Given the description of an element on the screen output the (x, y) to click on. 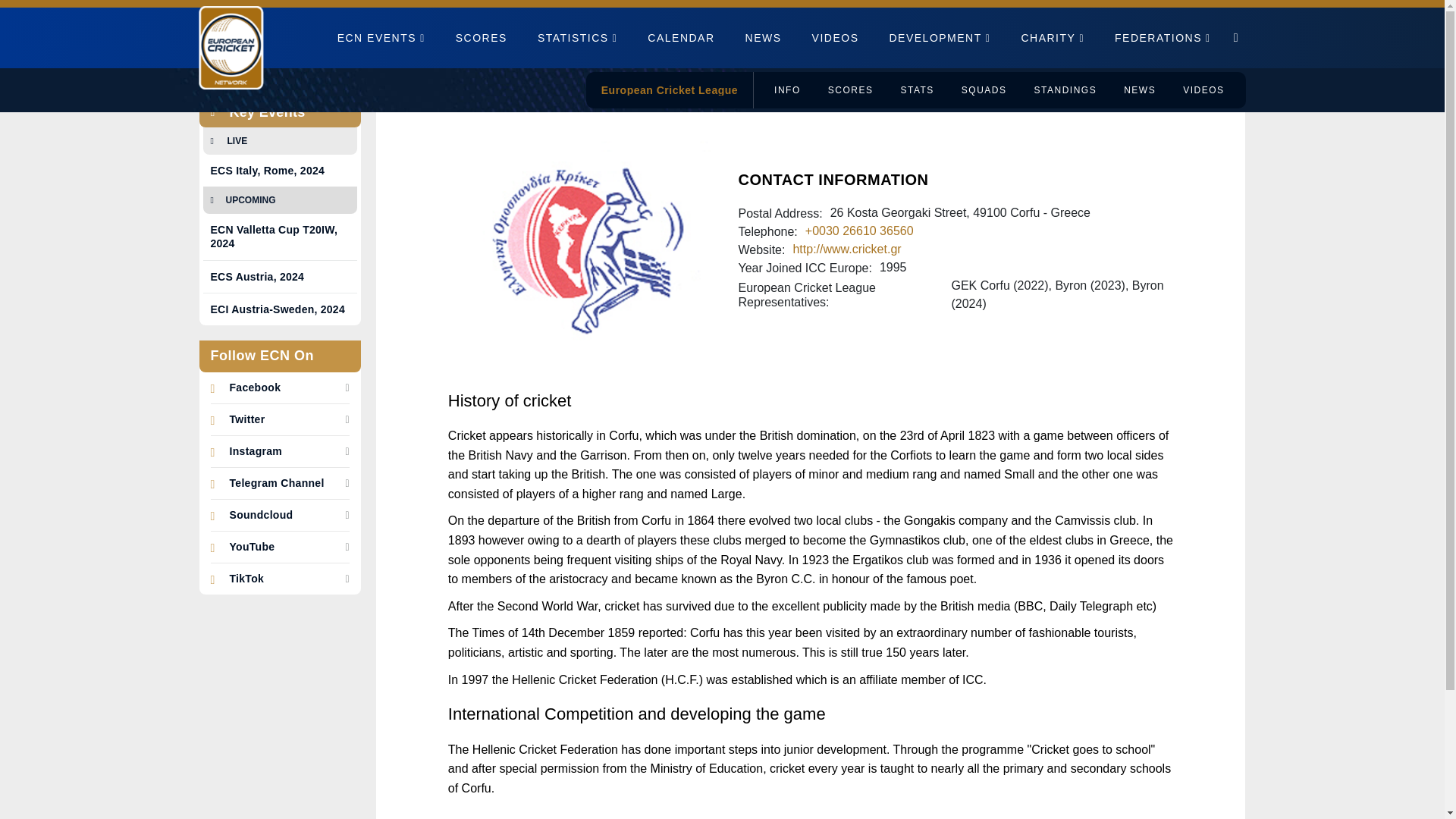
ecn.cricket (255, 451)
EuropeanCricket (246, 419)
ecn.cricket (251, 546)
ecn.cricket (254, 387)
ecn.cricket (275, 483)
ecn.cricket (260, 514)
CALENDAR (680, 37)
VIDEOS (835, 37)
NEWS (763, 37)
ecn.cricket (245, 578)
